Given the description of an element on the screen output the (x, y) to click on. 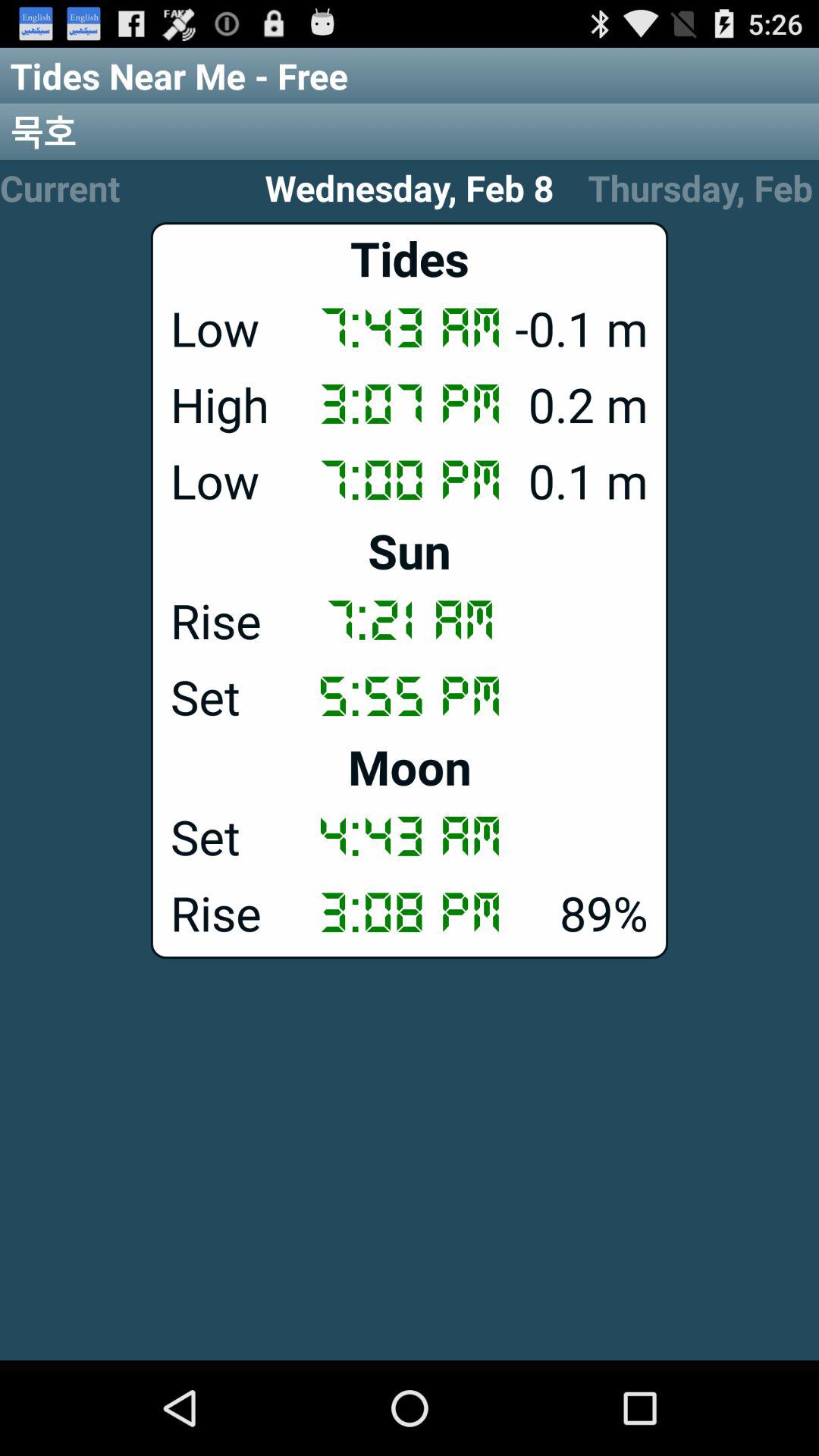
scroll to moon icon (409, 766)
